Given the description of an element on the screen output the (x, y) to click on. 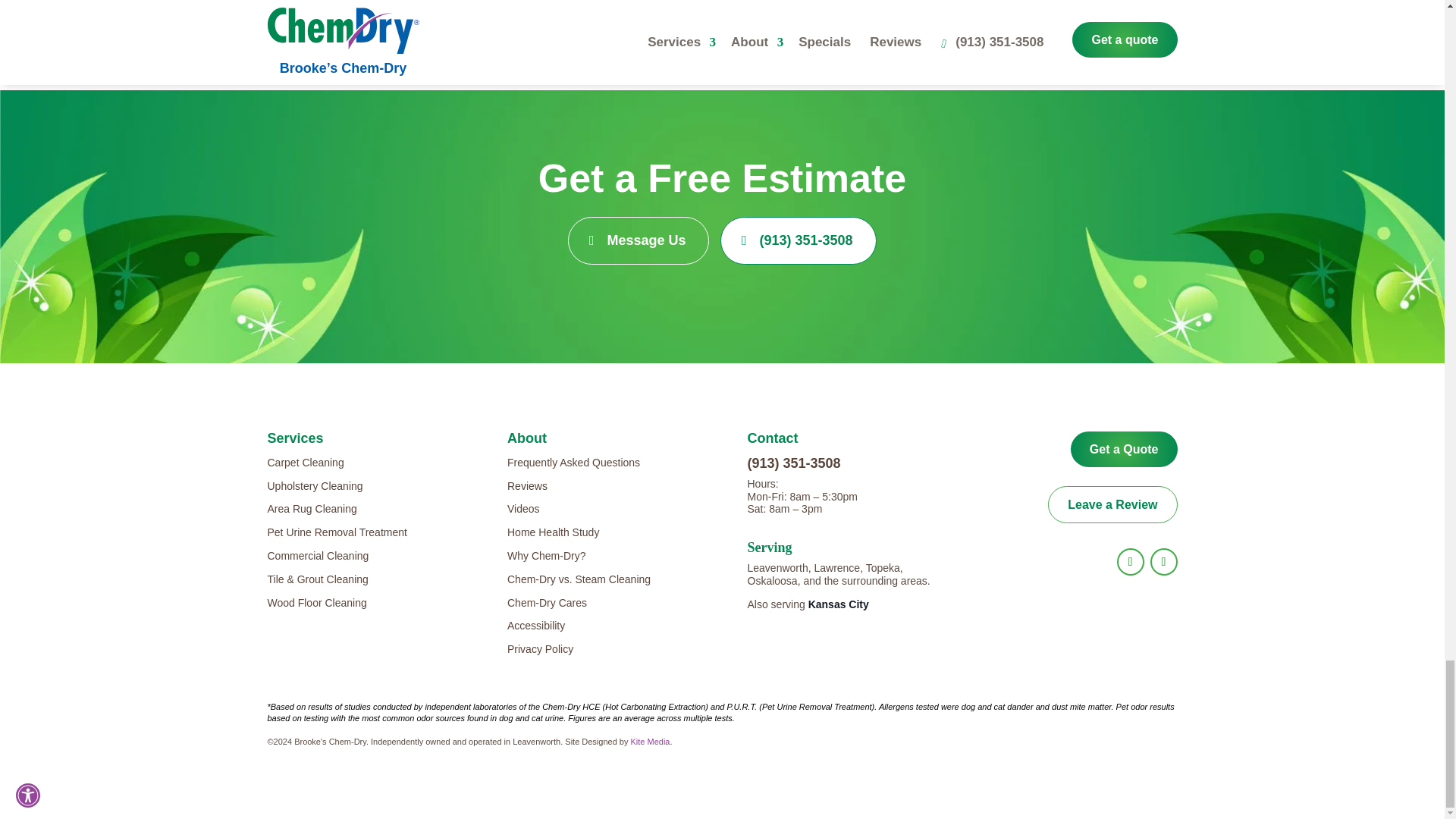
Follow on Yelp (1163, 561)
Spilled-Soda-Cup.I11.2k (467, 76)
Follow on Facebook (1129, 561)
